Given the description of an element on the screen output the (x, y) to click on. 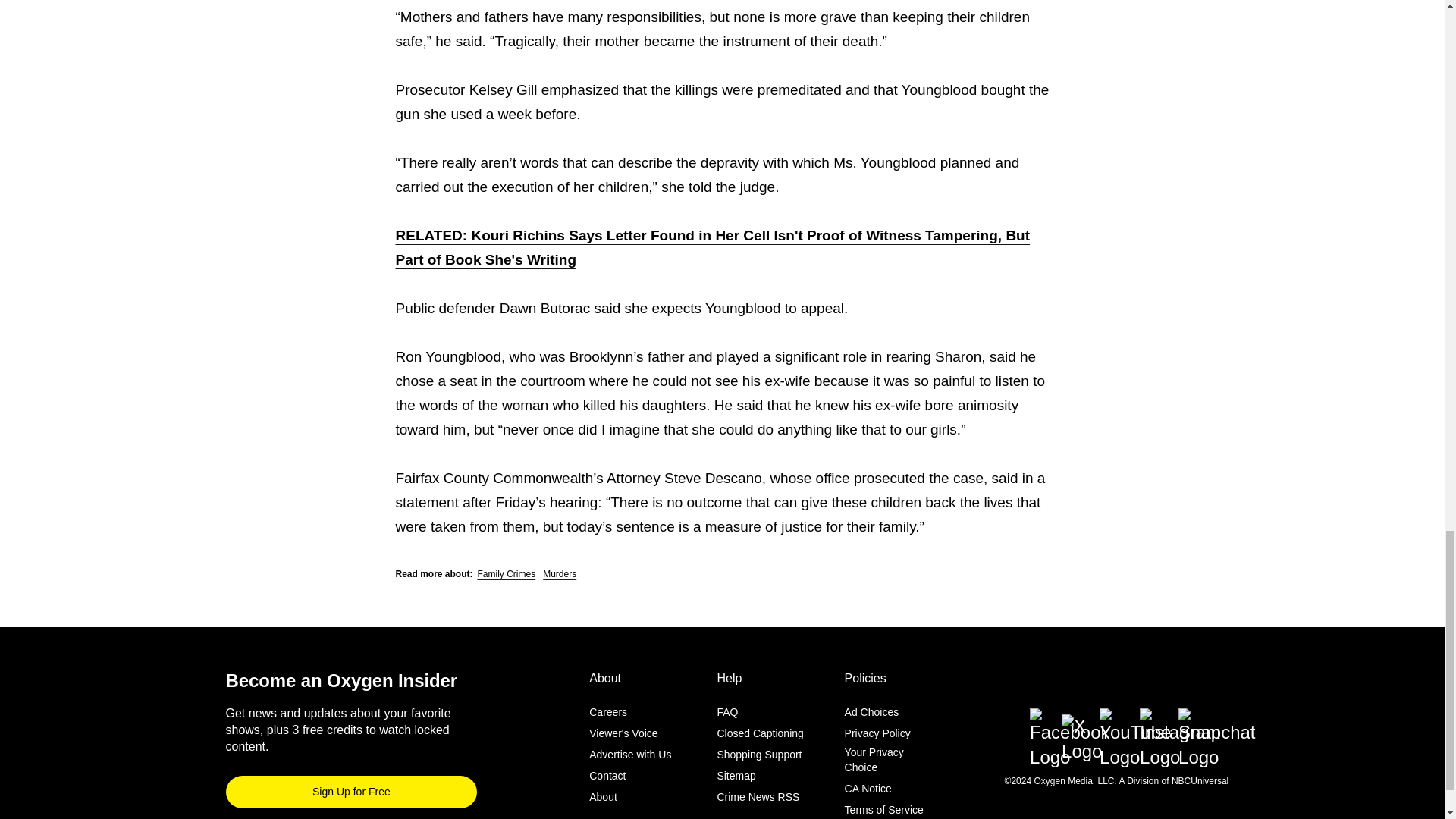
Murders (559, 573)
Family Crimes (506, 573)
Advertise with Us (630, 754)
